Given the description of an element on the screen output the (x, y) to click on. 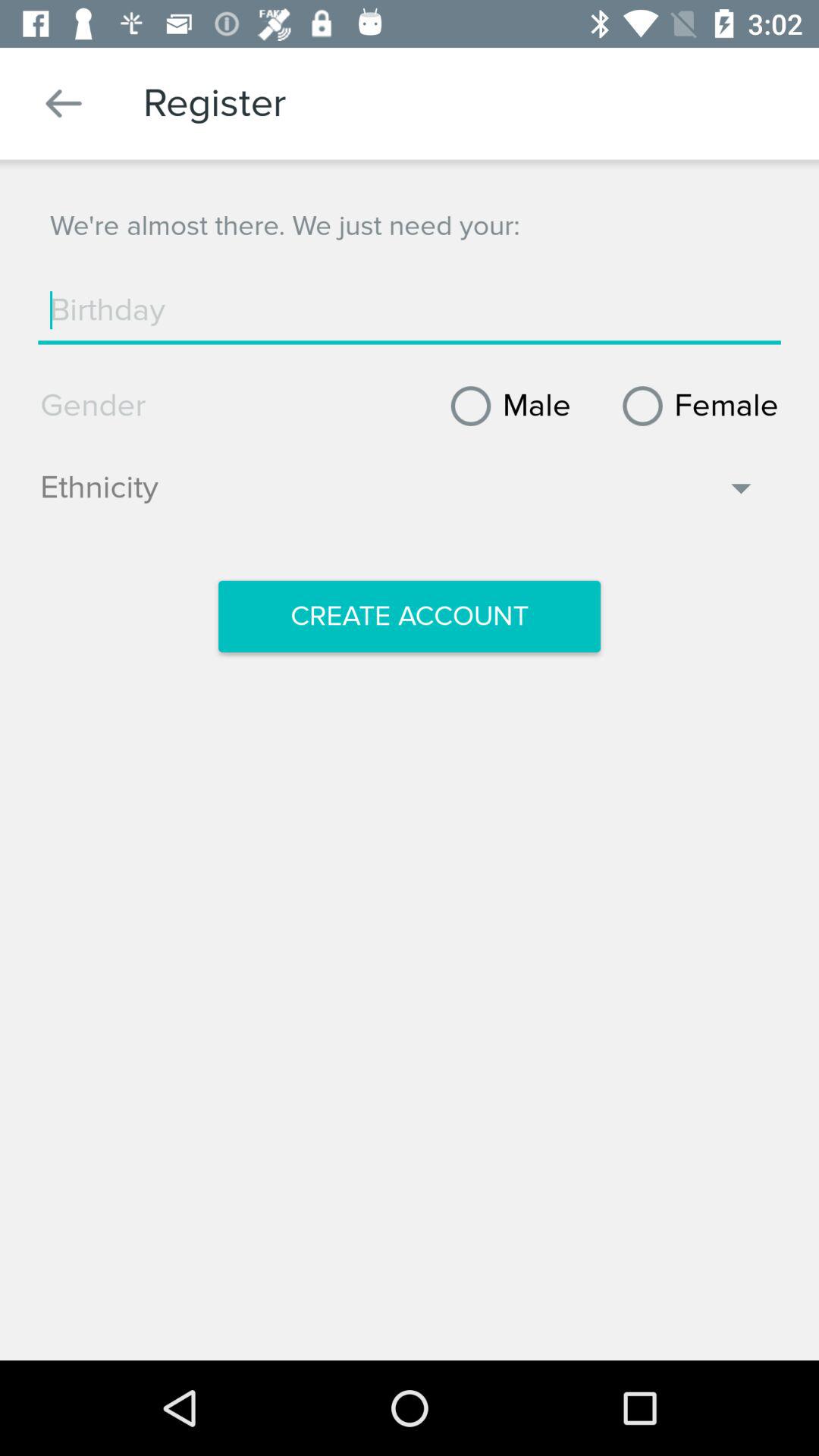
launch icon above the male icon (409, 310)
